Given the description of an element on the screen output the (x, y) to click on. 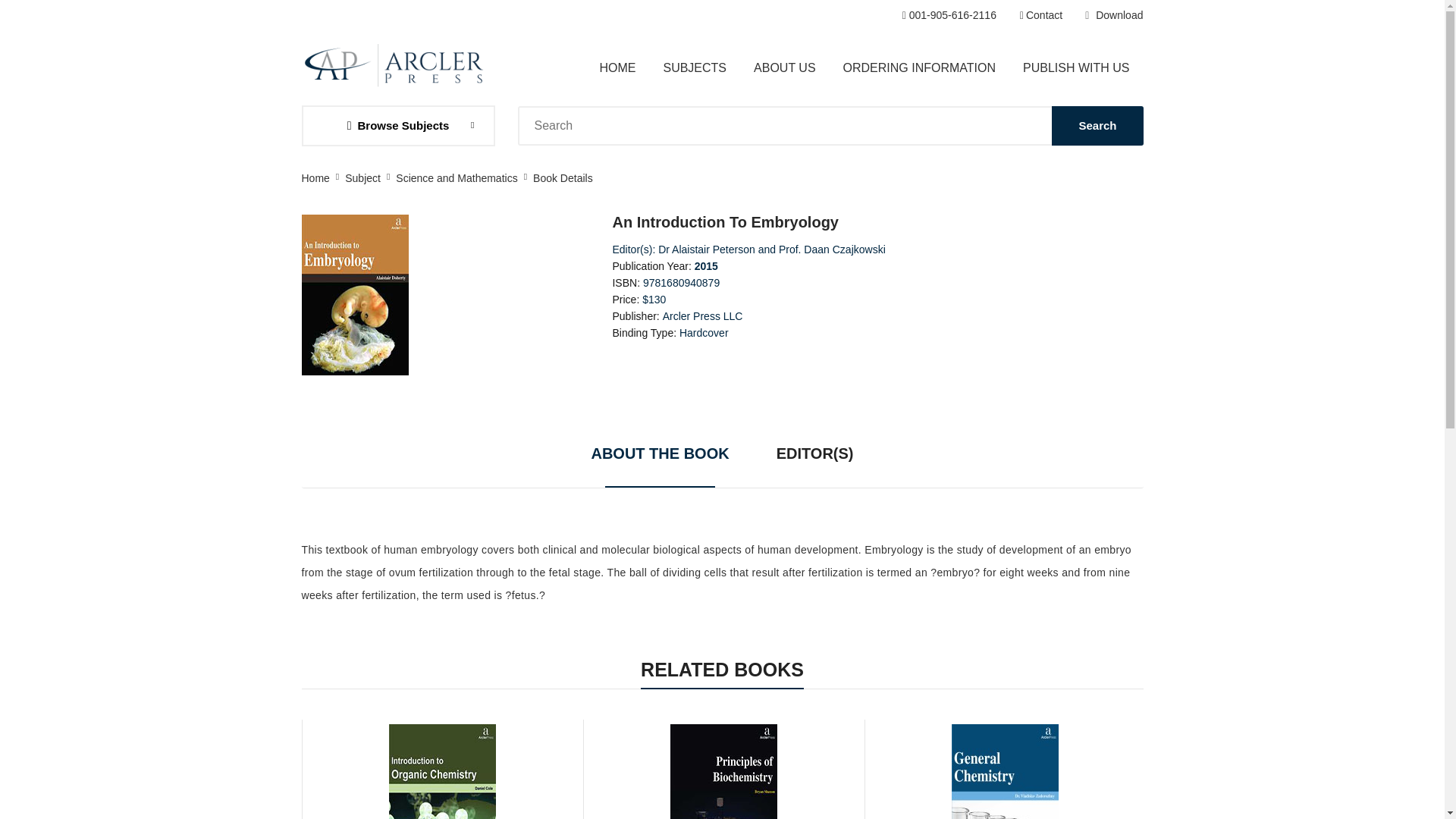
Download (1113, 15)
SUBJECTS (694, 67)
Contact (1040, 15)
001-905-616-2116 (948, 15)
ORDERING INFORMATION (919, 67)
Search (1096, 125)
Browse Subjects (398, 124)
PUBLISH WITH US (1076, 67)
ABOUT US (784, 67)
